Given the description of an element on the screen output the (x, y) to click on. 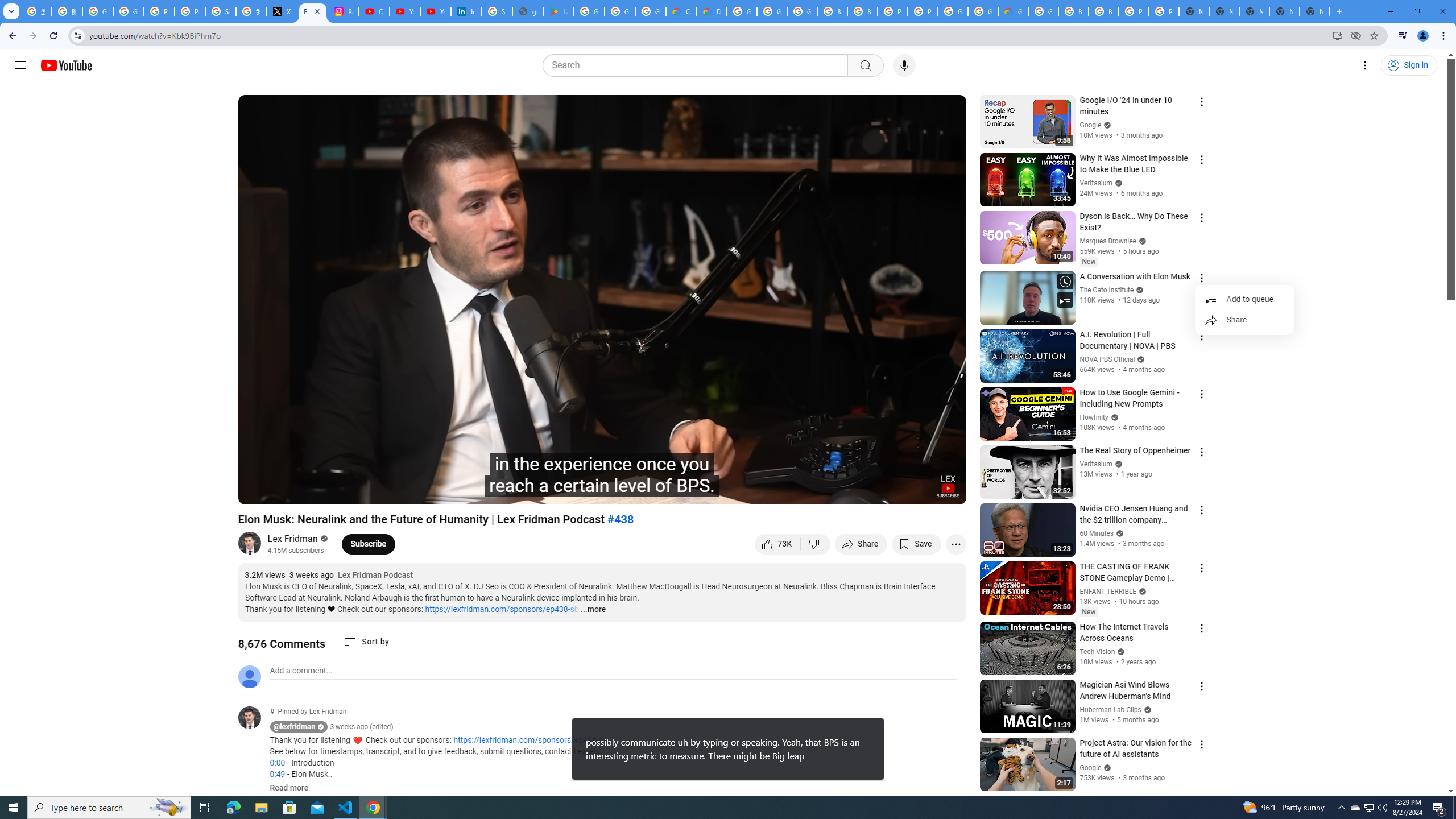
Action menu (1200, 802)
Google Cloud Platform (952, 11)
Google Workspace - Specific Terms (650, 11)
0:49 (277, 773)
Autoplay is on (808, 490)
Read more (288, 787)
Verified (1106, 767)
